Given the description of an element on the screen output the (x, y) to click on. 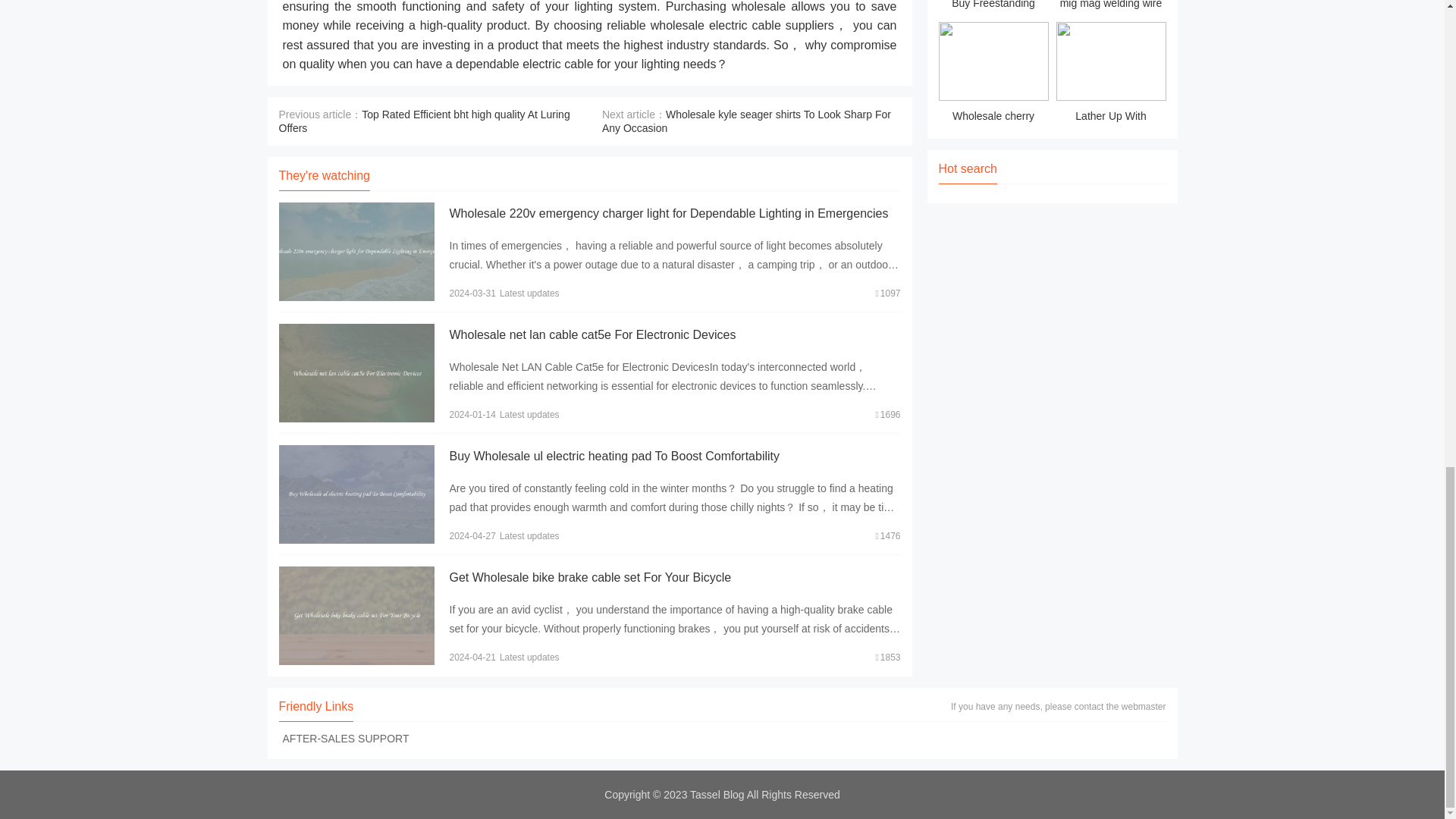
AFTER-SALES SUPPORT (346, 738)
Wholesale kyle seager shirts To Look Sharp For Any Occasion (746, 121)
Wholesale net lan cable cat5e For Electronic Devices (591, 334)
Get Wholesale bike brake cable set For Your Bicycle (589, 576)
Lather Up With Popular Wholesale wind washing (1110, 74)
Buy Freestanding double side pop screen with Custom Designs (993, 7)
